Given the description of an element on the screen output the (x, y) to click on. 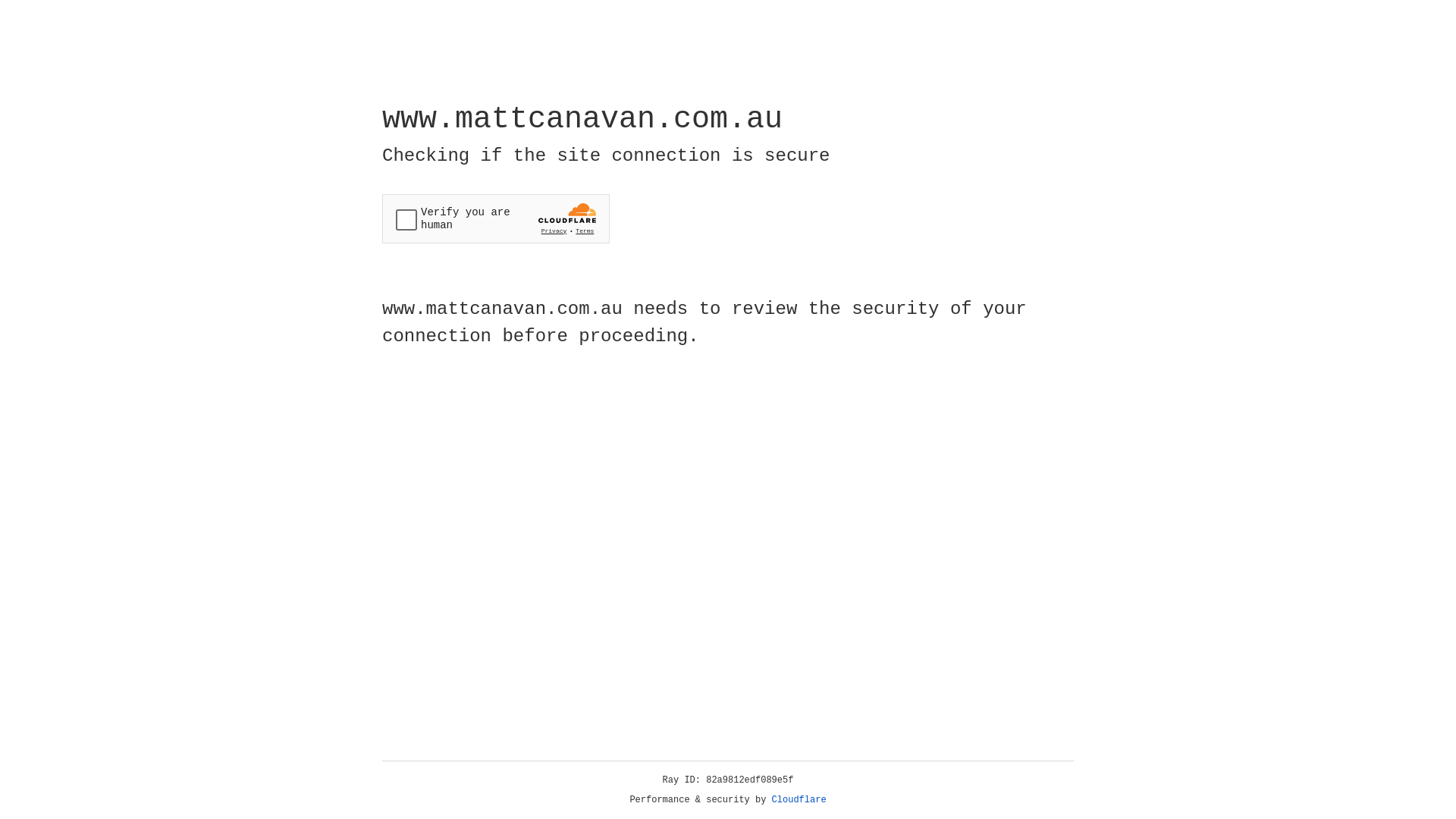
Widget containing a Cloudflare security challenge Element type: hover (495, 218)
Cloudflare Element type: text (798, 799)
